Given the description of an element on the screen output the (x, y) to click on. 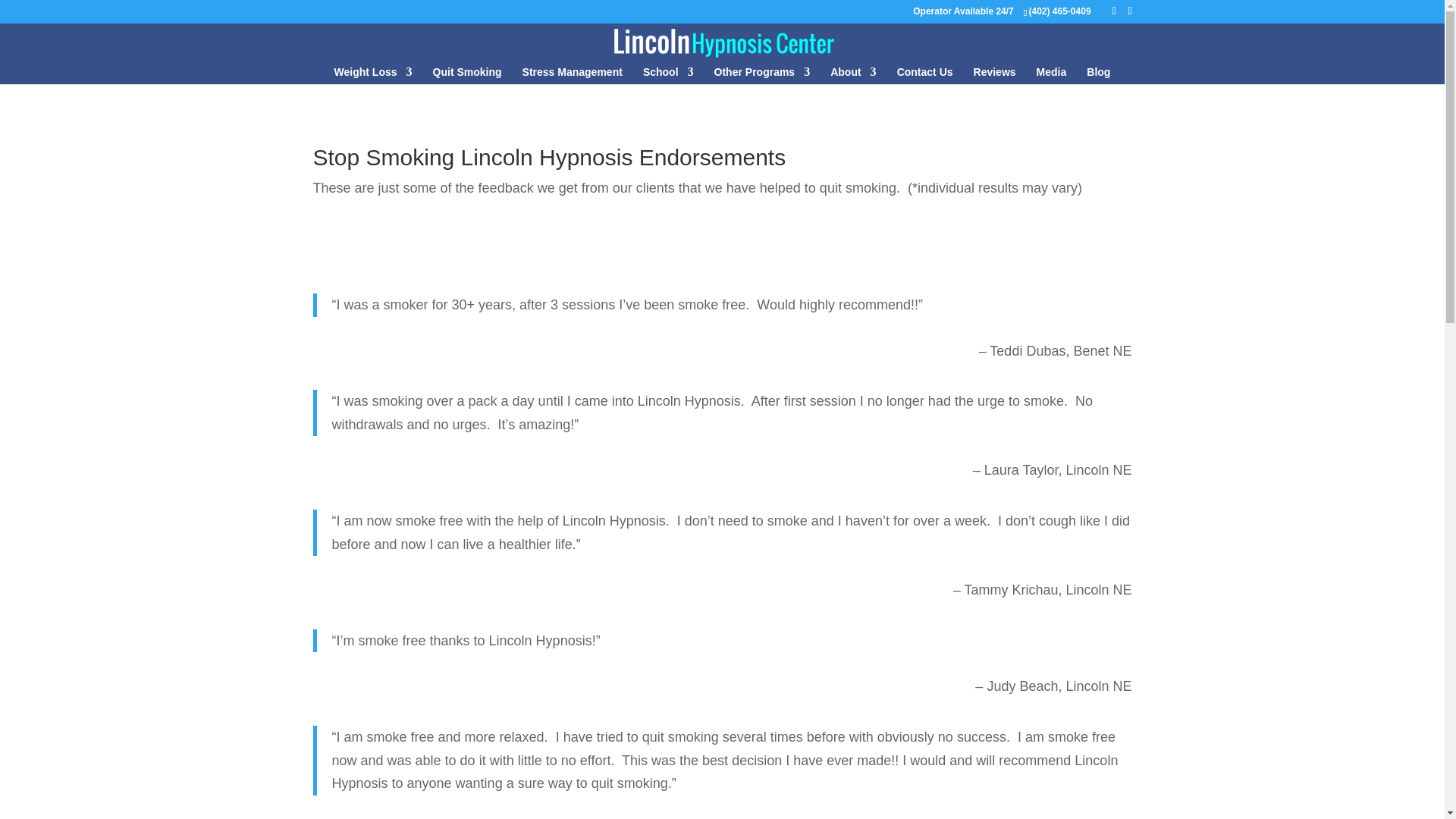
Reviews (995, 75)
Blog (1097, 75)
School (668, 75)
Contact Us (924, 75)
Media (1051, 75)
Weight Loss (373, 75)
Stress Management (572, 75)
About (852, 75)
Other Programs (762, 75)
Quit Smoking (467, 75)
